Given the description of an element on the screen output the (x, y) to click on. 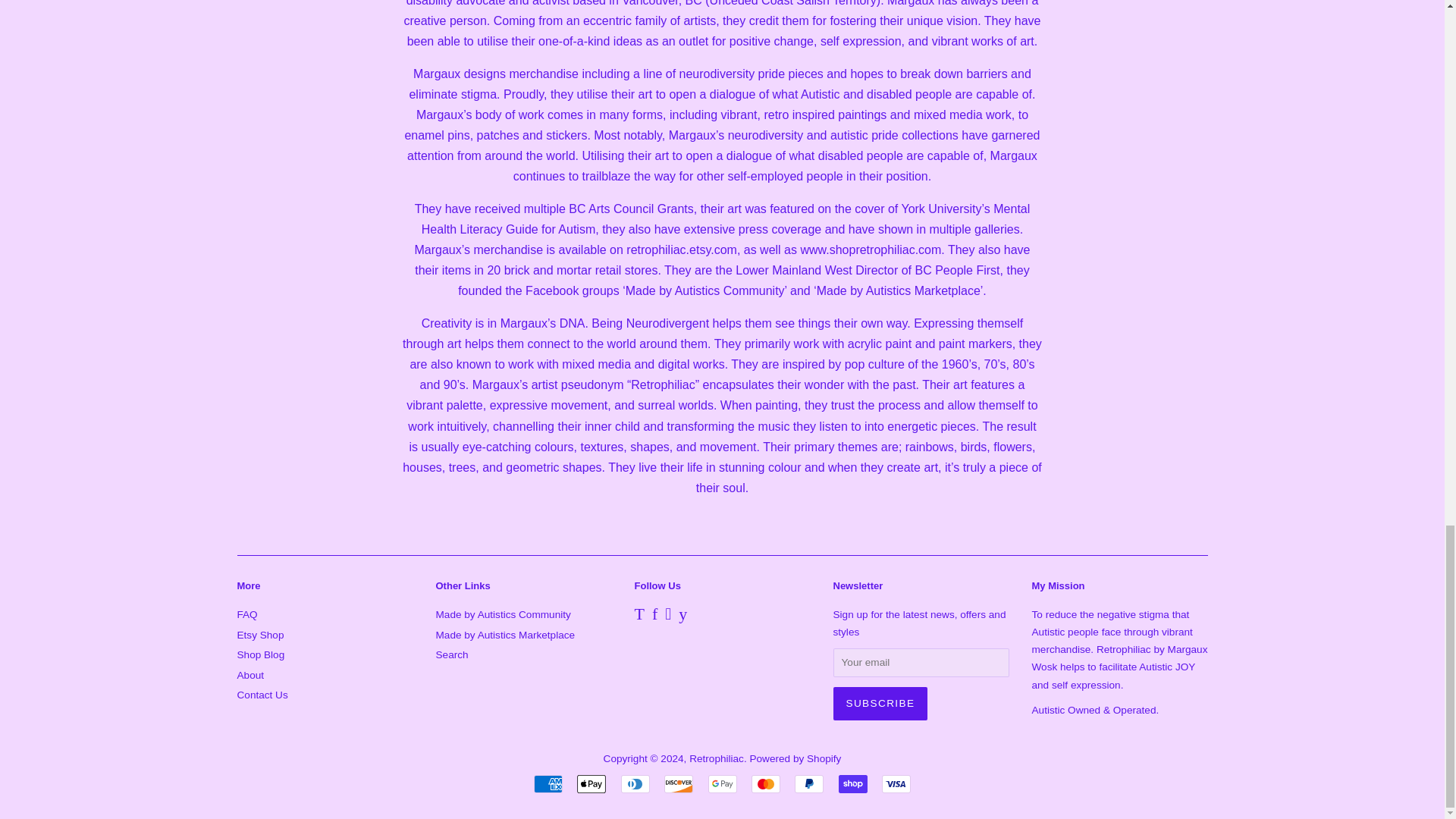
Shop Pay (852, 783)
Mastercard (765, 783)
Etsy Shop (259, 634)
Contact Us (260, 695)
PayPal (809, 783)
Diners Club (635, 783)
Shop Blog (259, 654)
About (249, 674)
Subscribe (879, 703)
American Express (548, 783)
